Given the description of an element on the screen output the (x, y) to click on. 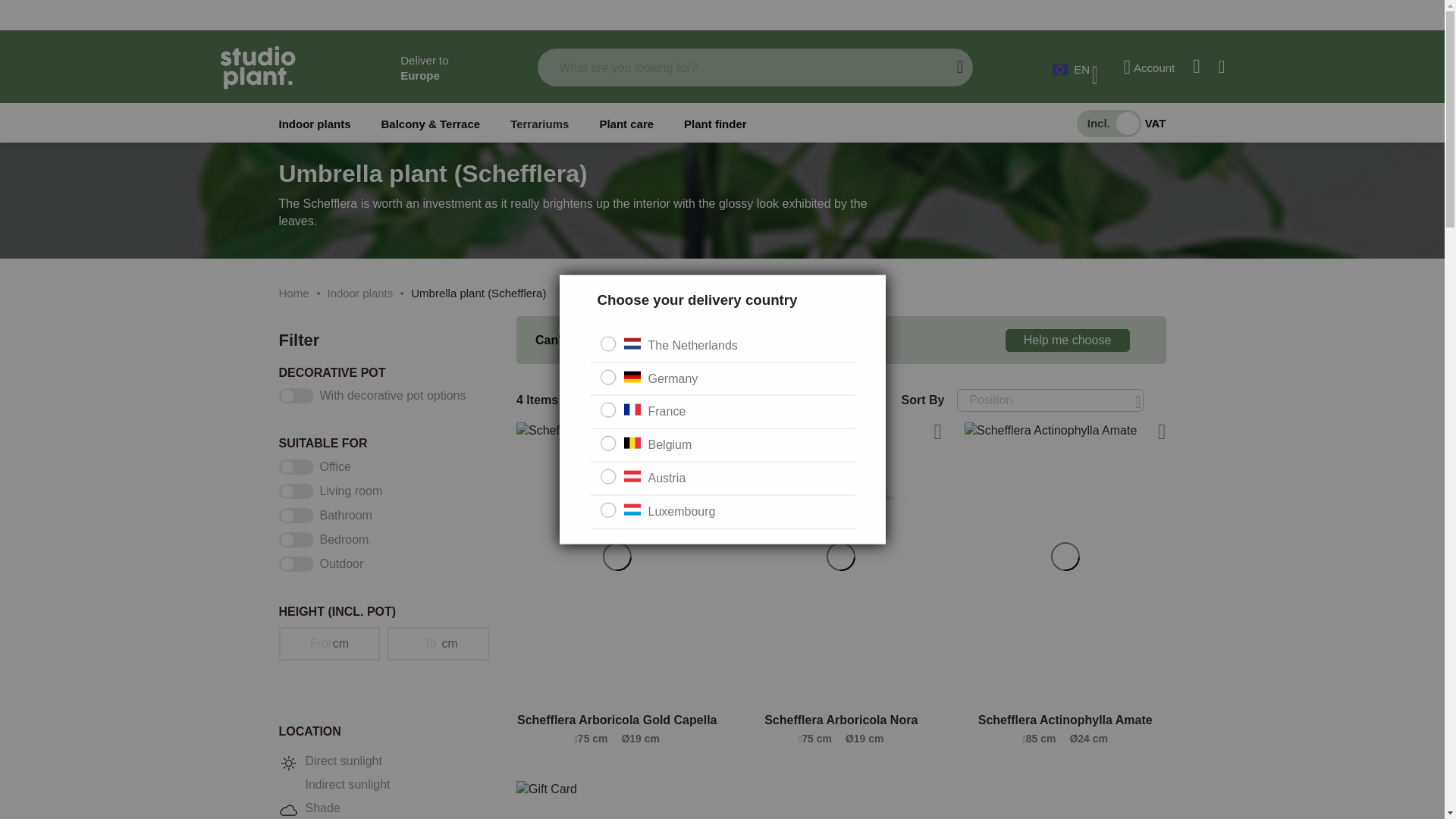
Indoor plants (314, 123)
on (607, 343)
Terrariums (540, 123)
Go to Home Page (293, 292)
Plant finder (715, 123)
on (607, 476)
on (607, 509)
on (1121, 123)
on (607, 409)
